Given the description of an element on the screen output the (x, y) to click on. 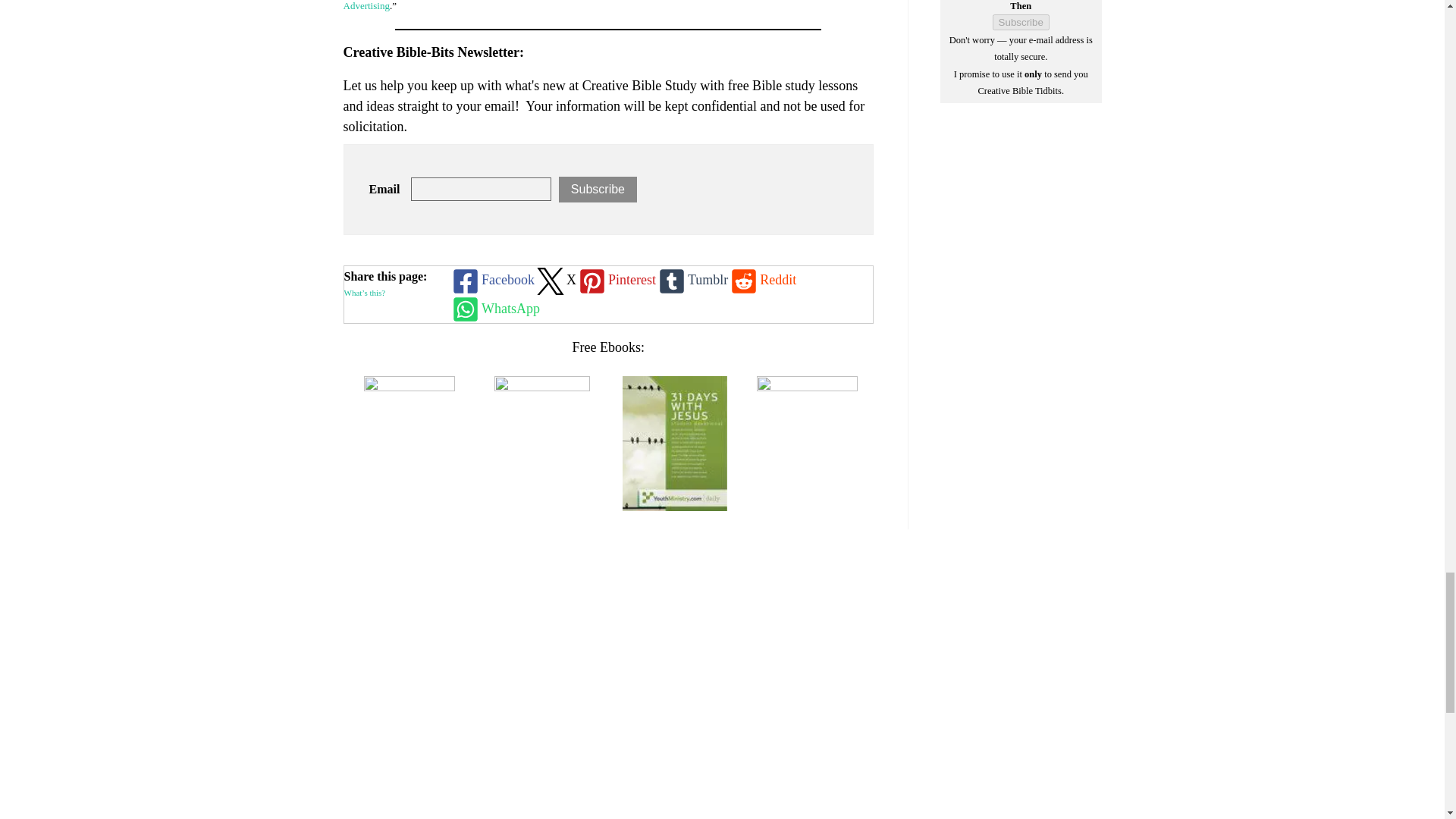
Subscribe (1020, 22)
Go to Free Bible Study Lessons - All Ages (409, 386)
